Given the description of an element on the screen output the (x, y) to click on. 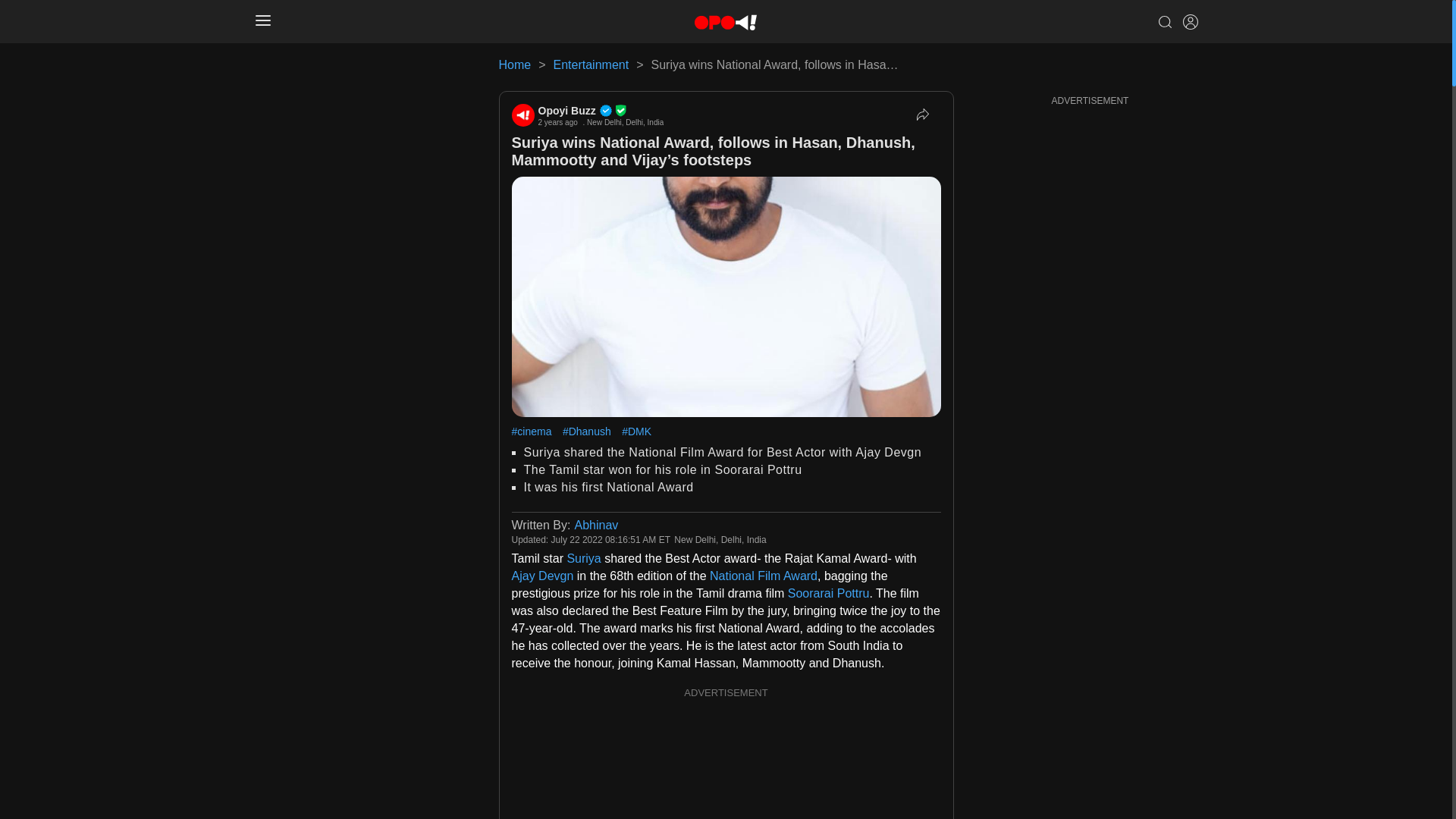
 Opoyi Buzz (522, 115)
Home (515, 64)
Entertainment (590, 64)
Opoyi Buzz (600, 110)
Abhinav (595, 524)
Opoyi Buzz (600, 110)
